Given the description of an element on the screen output the (x, y) to click on. 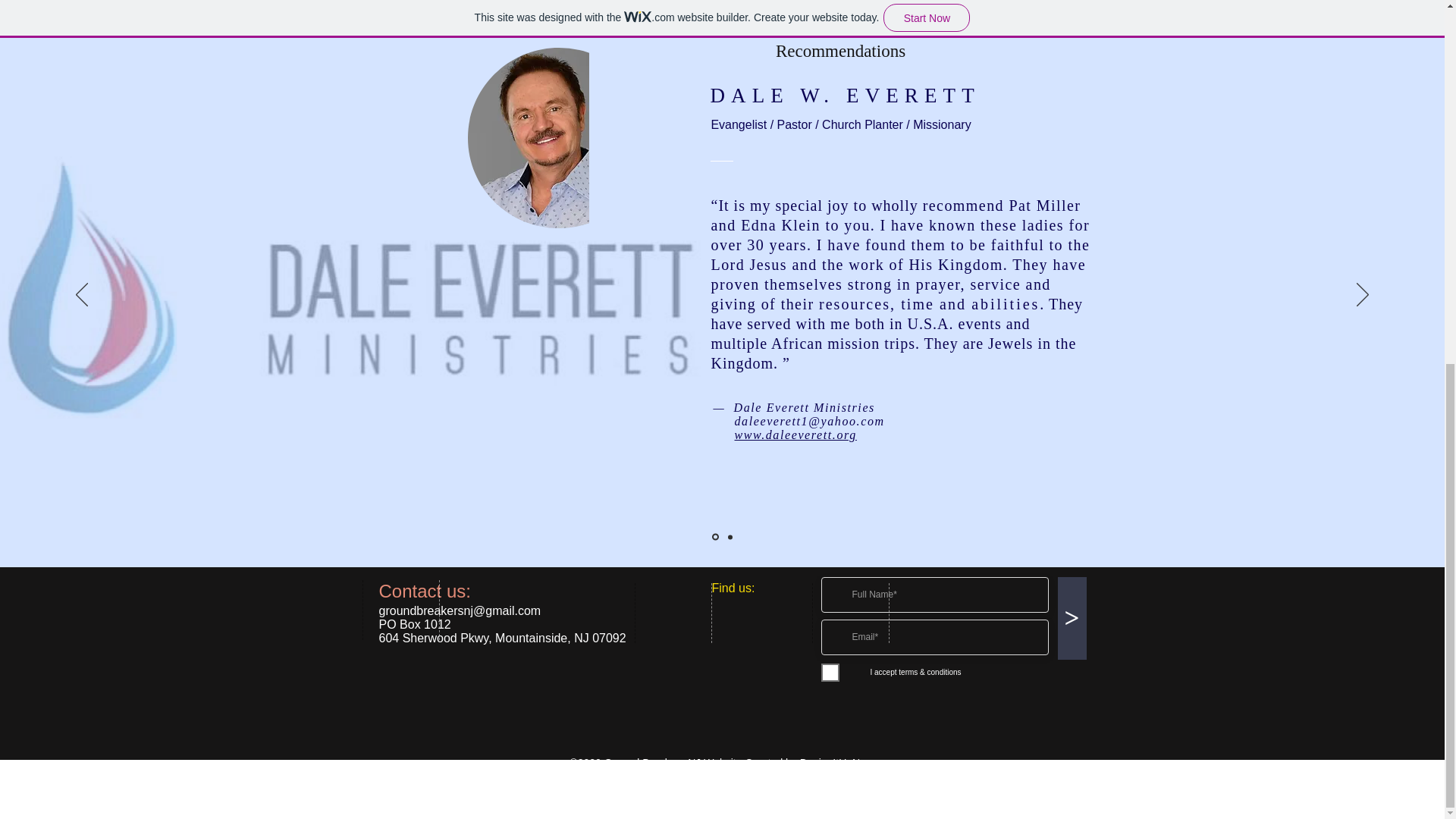
Dale Everett (527, 137)
www.daleeverett.org (794, 434)
